Given the description of an element on the screen output the (x, y) to click on. 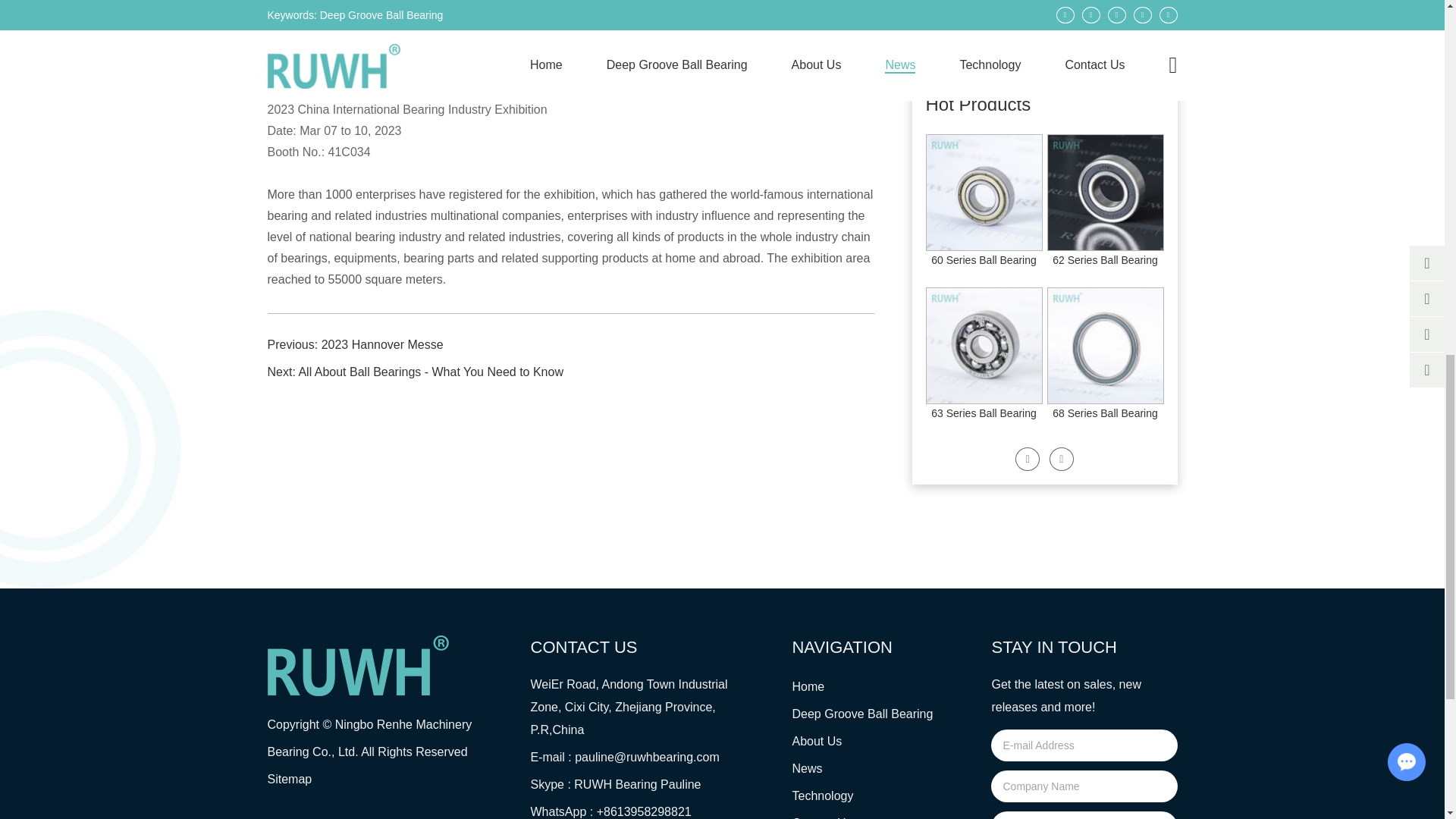
60 Series Ball Bearing (983, 259)
2023 Hannover Messe (966, 18)
All About Ball Bearings - What You Need to Know (430, 371)
60 Series Ball Bearing (984, 192)
2023 Hannover Messe (382, 344)
